Given the description of an element on the screen output the (x, y) to click on. 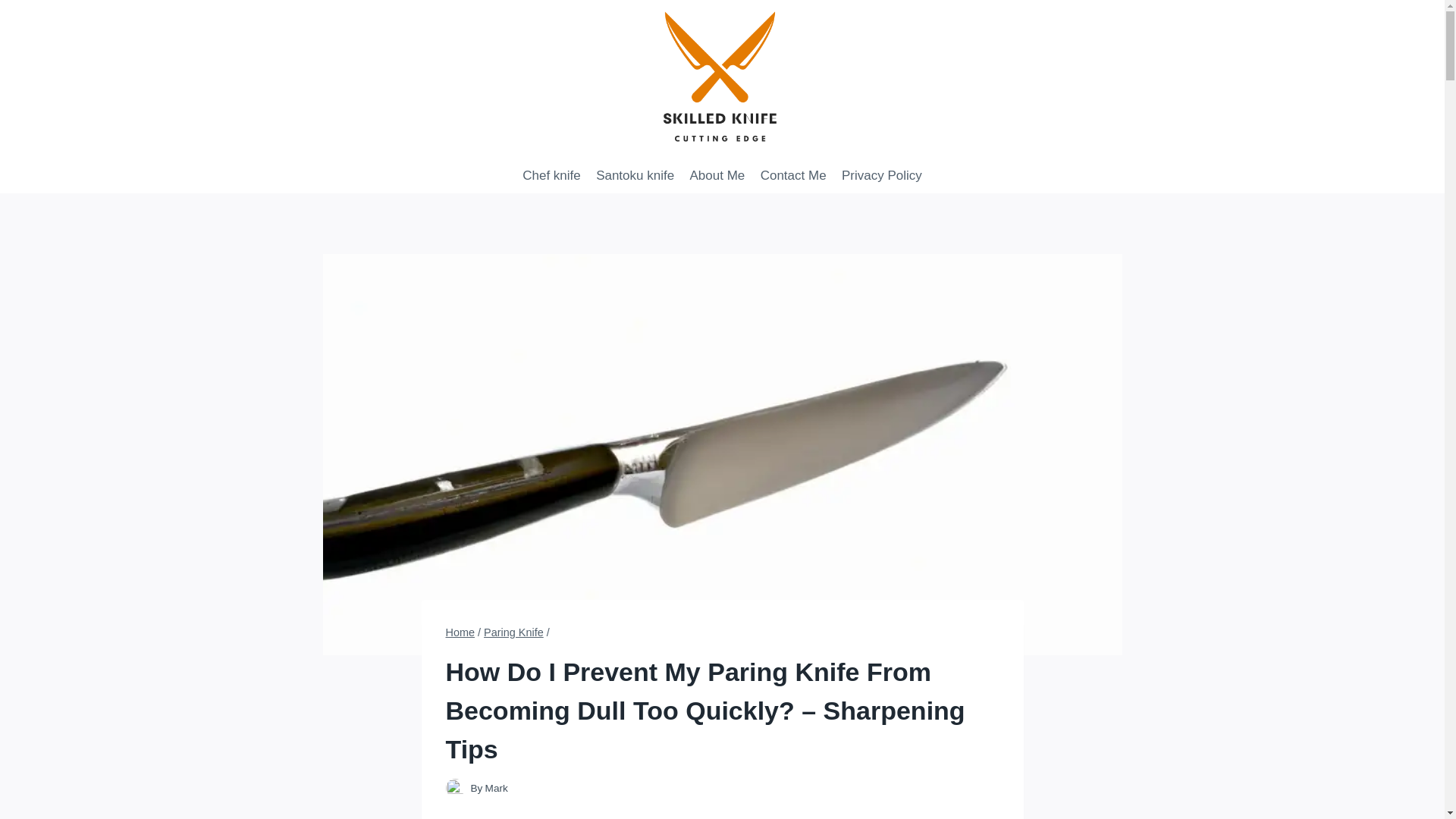
Contact Me (792, 175)
Chef knife (551, 175)
Home (460, 632)
Paring Knife (513, 632)
Privacy Policy (882, 175)
Mark (496, 787)
About Me (716, 175)
Santoku knife (634, 175)
